Given the description of an element on the screen output the (x, y) to click on. 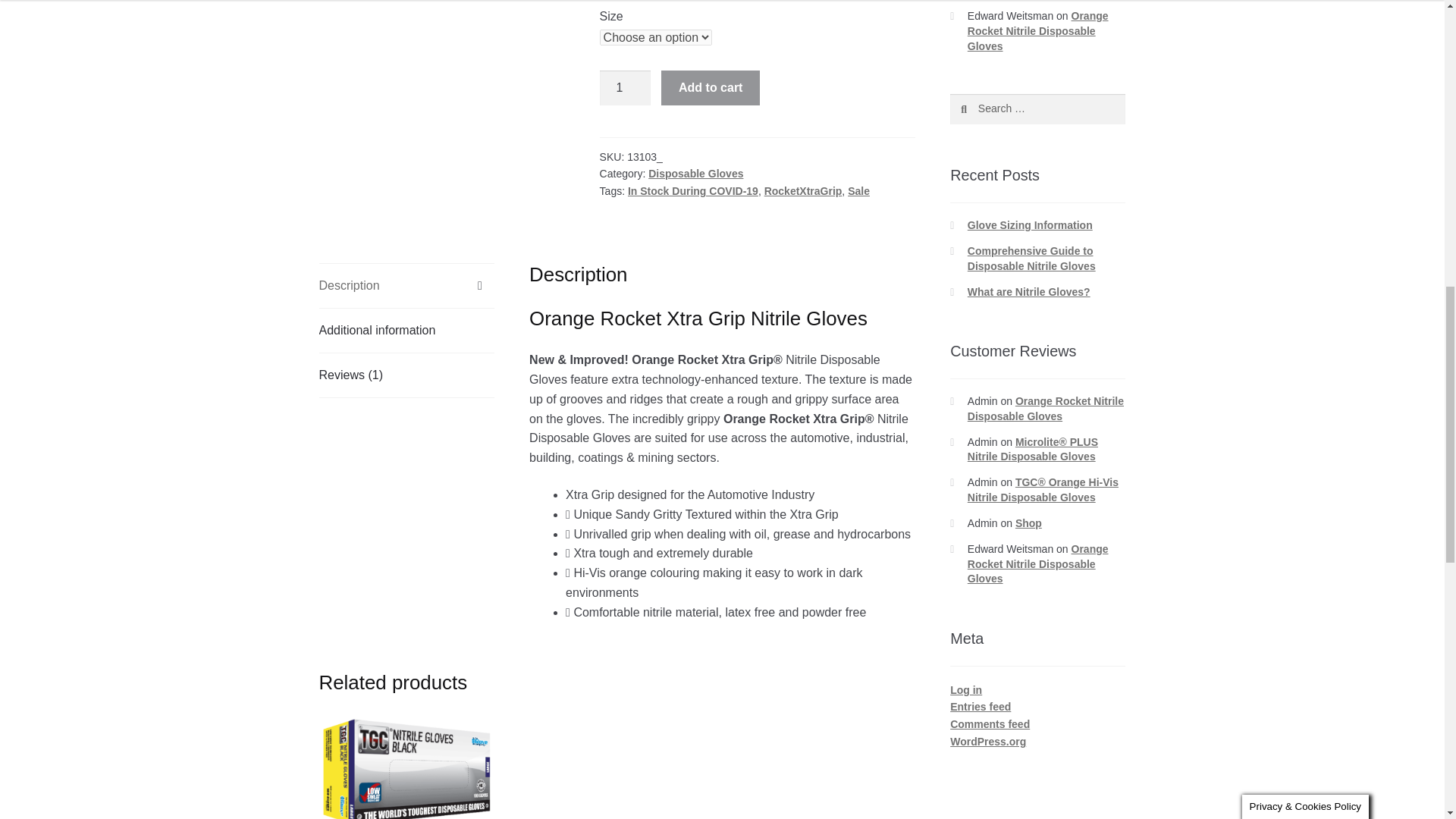
In Stock During COVID-19 (692, 191)
Additional information (406, 330)
Add to cart (710, 87)
Sale (858, 191)
Description (406, 285)
RocketXtraGrip (803, 191)
Disposable Gloves (694, 173)
1 (624, 87)
